Given the description of an element on the screen output the (x, y) to click on. 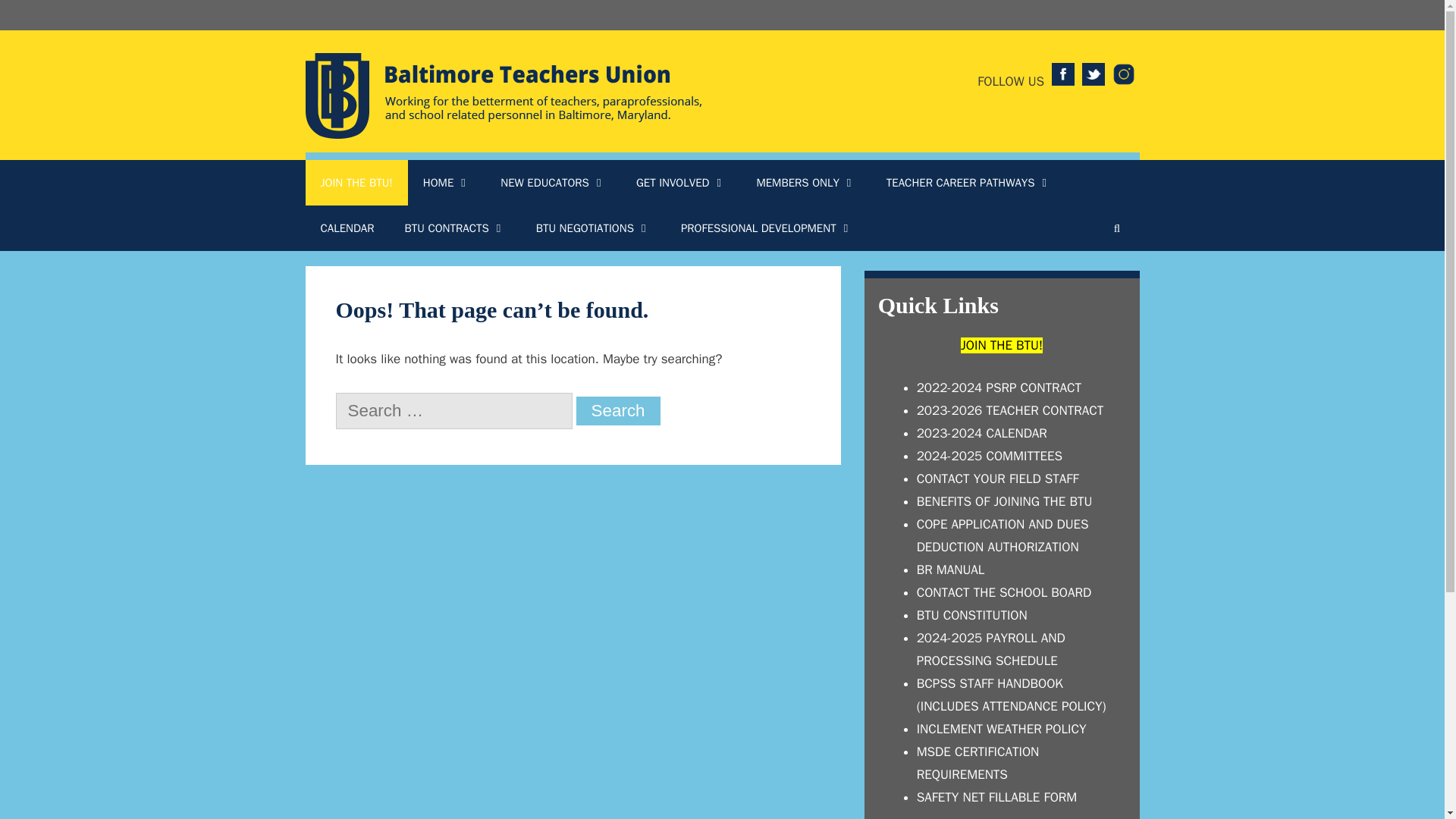
Search (618, 410)
NEW EDUCATORS (552, 182)
Search for: (453, 411)
JOIN THE BTU! (355, 182)
Search (618, 410)
HOME (445, 182)
